Given the description of an element on the screen output the (x, y) to click on. 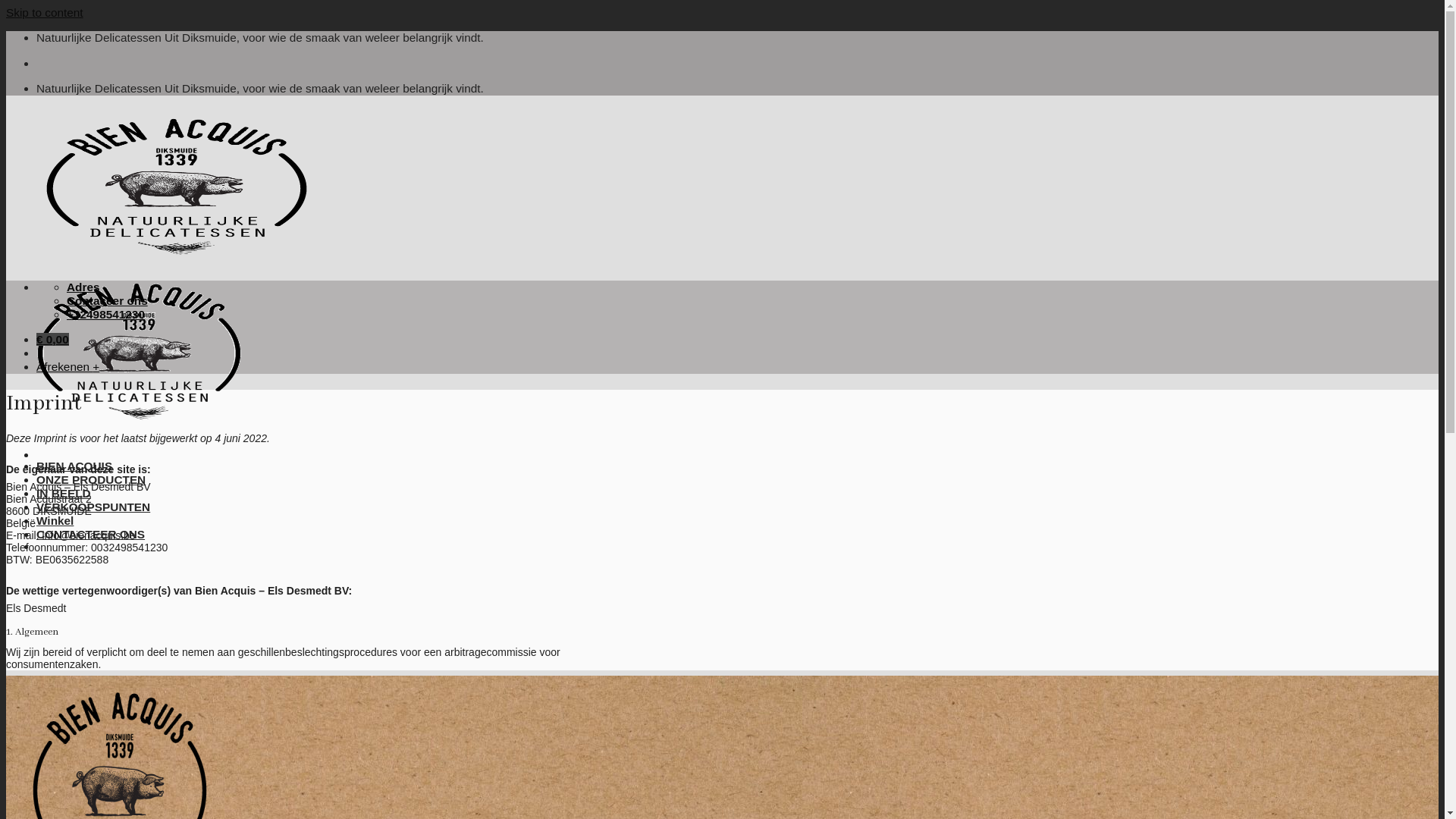
CONTACTEER ONS Element type: text (90, 533)
+32498541230 Element type: text (105, 313)
VERKOOPSPUNTEN Element type: text (93, 506)
BIEN ACQUIS Element type: text (74, 465)
ONZE PRODUCTEN Element type: text (90, 479)
Afrekenen + Element type: text (67, 366)
Bien Acquis - Natuurlijke delicatessen uit Diksmuide Element type: hover (176, 346)
Contaceer ons Element type: text (106, 300)
Adres Element type: text (83, 286)
IN BEELD Element type: text (63, 492)
Skip to content Element type: text (44, 12)
Winkel Element type: text (54, 520)
